Given the description of an element on the screen output the (x, y) to click on. 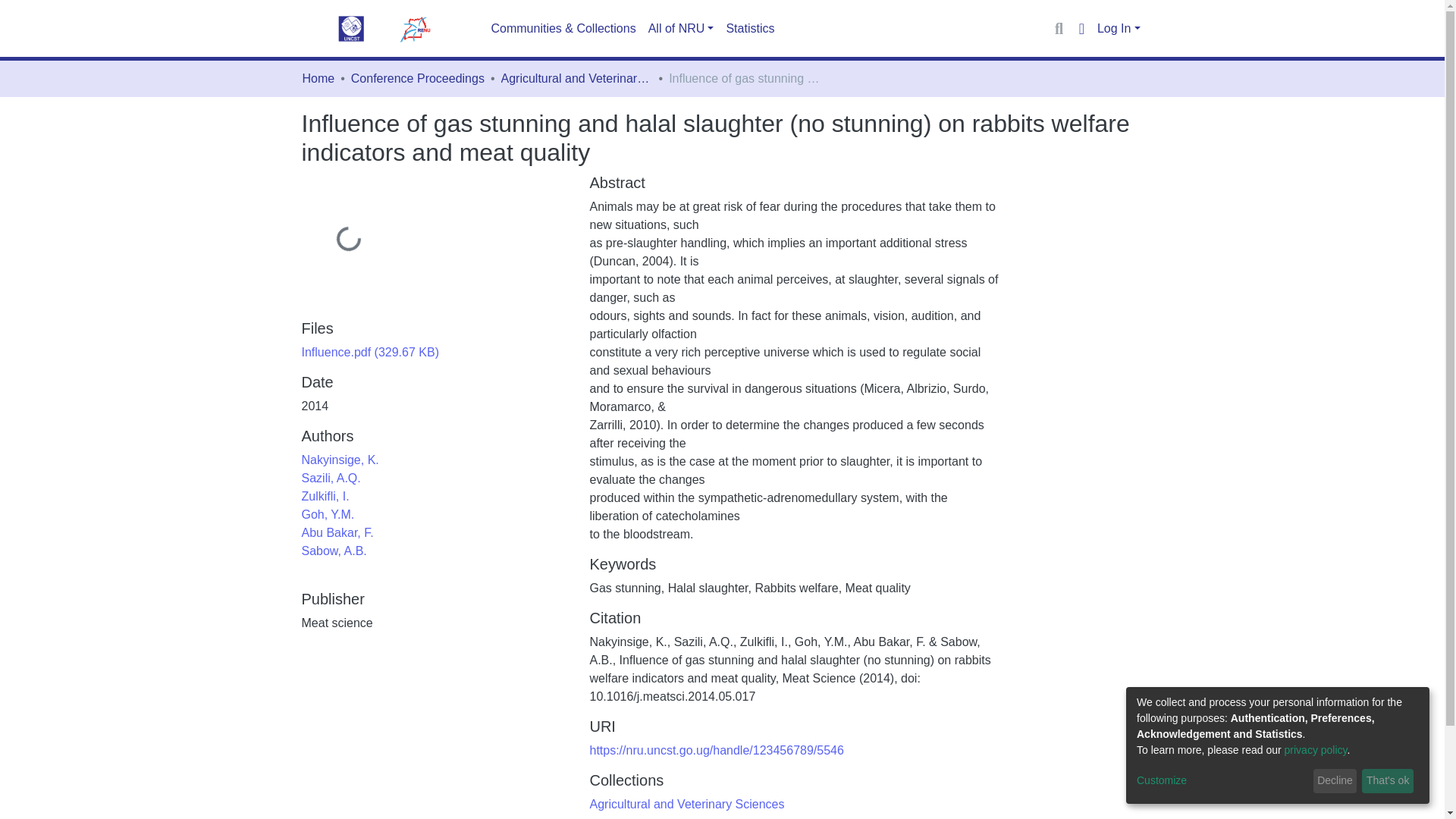
Search (1058, 28)
Home (317, 78)
Goh, Y.M. (328, 513)
Zulkifli, I. (325, 495)
All of NRU (681, 28)
Sabow, A.B. (333, 550)
Agricultural and Veterinary Sciences (576, 78)
Sazili, A.Q. (331, 477)
privacy policy (1316, 749)
Statistics (749, 28)
Nakyinsige, K. (339, 459)
Language switch (1081, 28)
Statistics (749, 28)
Agricultural and Veterinary Sciences (686, 803)
Conference Proceedings (417, 78)
